Given the description of an element on the screen output the (x, y) to click on. 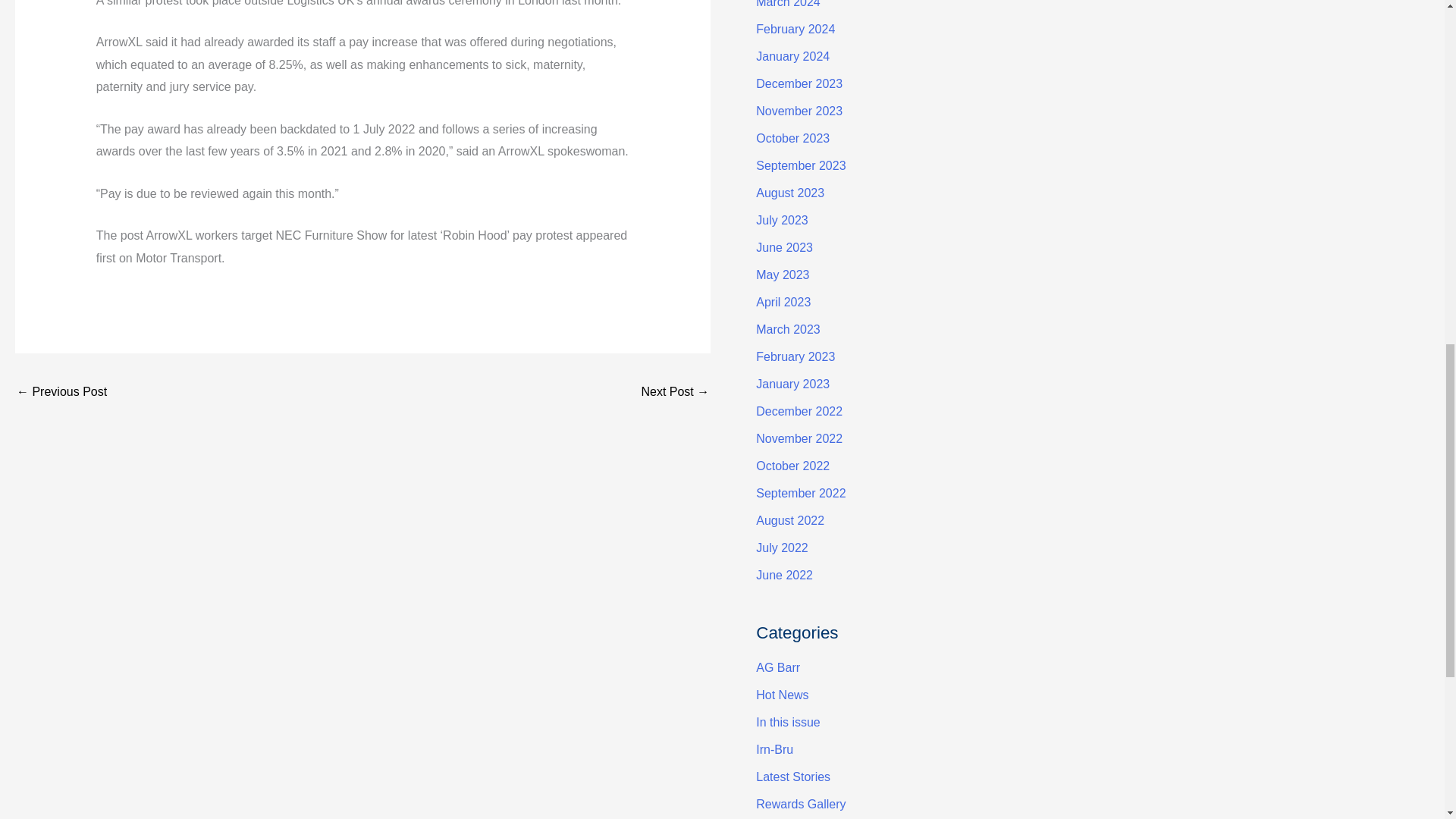
Call For Improved Facilities For HGV Drivers (674, 393)
